Given the description of an element on the screen output the (x, y) to click on. 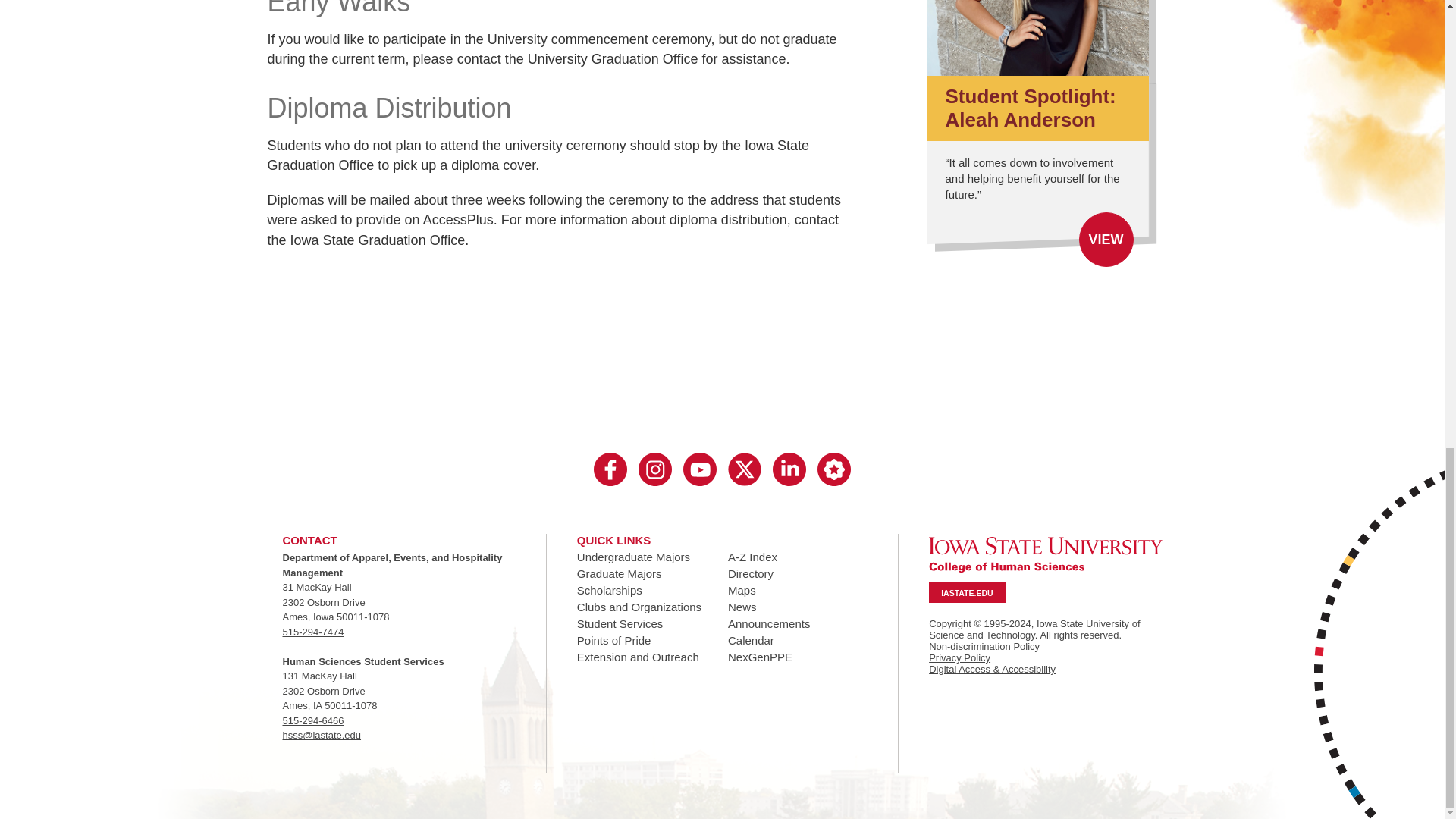
Iowa State University (1044, 554)
Click to go to www.iastate.edu (1044, 553)
Click to visit www.iastate.edu (966, 592)
